Given the description of an element on the screen output the (x, y) to click on. 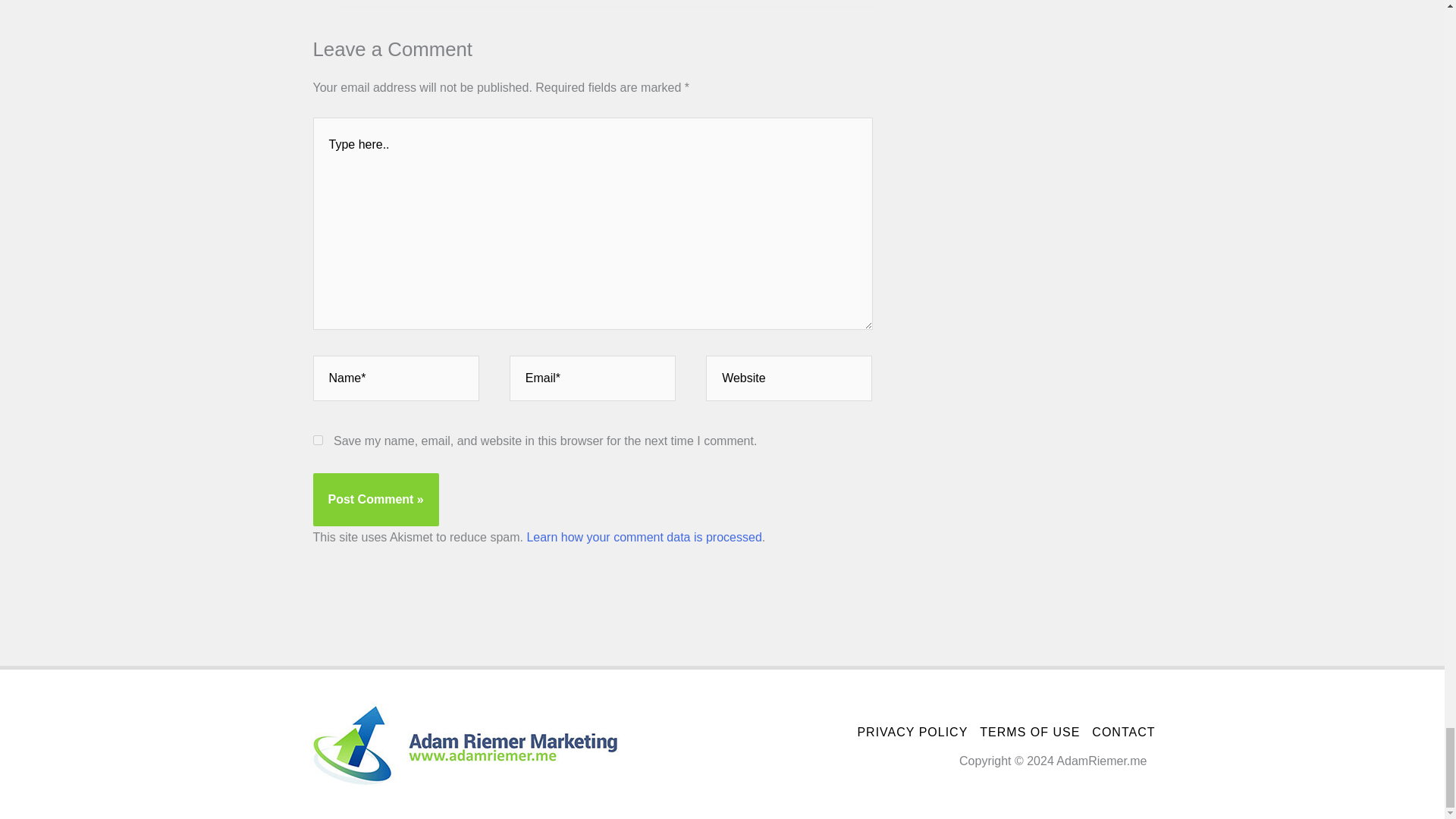
yes (317, 439)
